Given the description of an element on the screen output the (x, y) to click on. 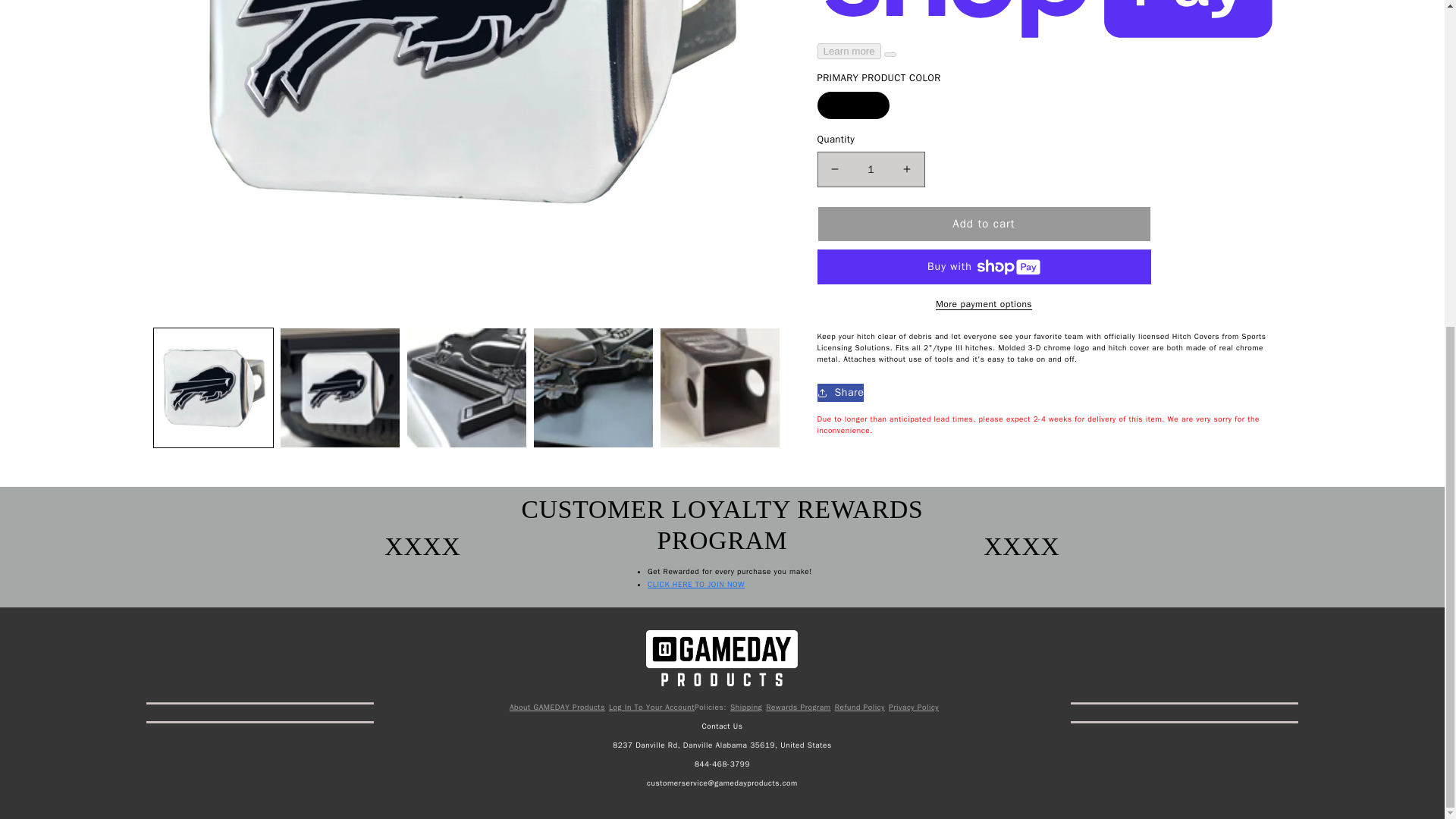
1 (870, 169)
